Given the description of an element on the screen output the (x, y) to click on. 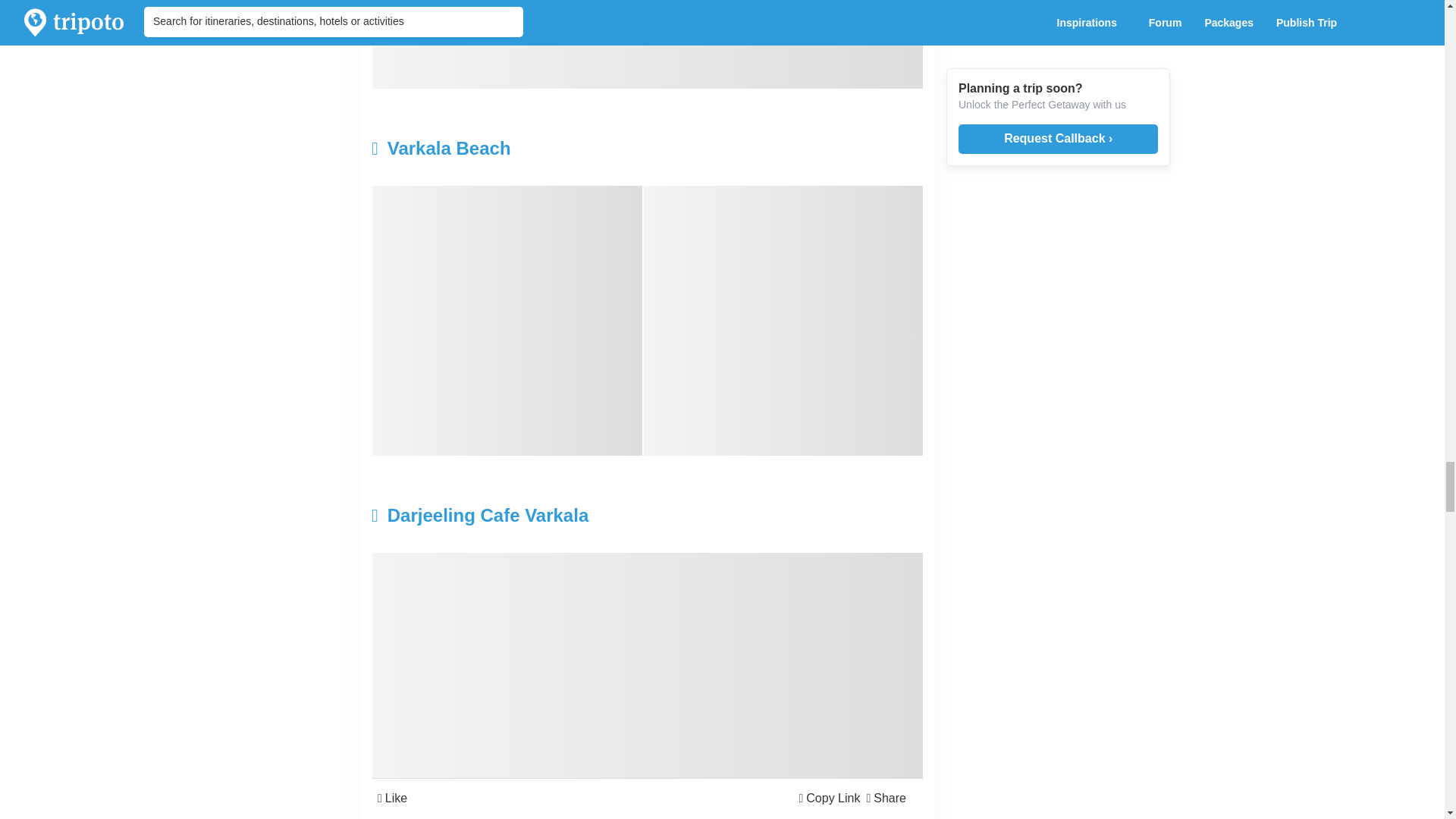
Darjeeling Cafe Varkala (555, 515)
Varkala Beach (555, 148)
